Given the description of an element on the screen output the (x, y) to click on. 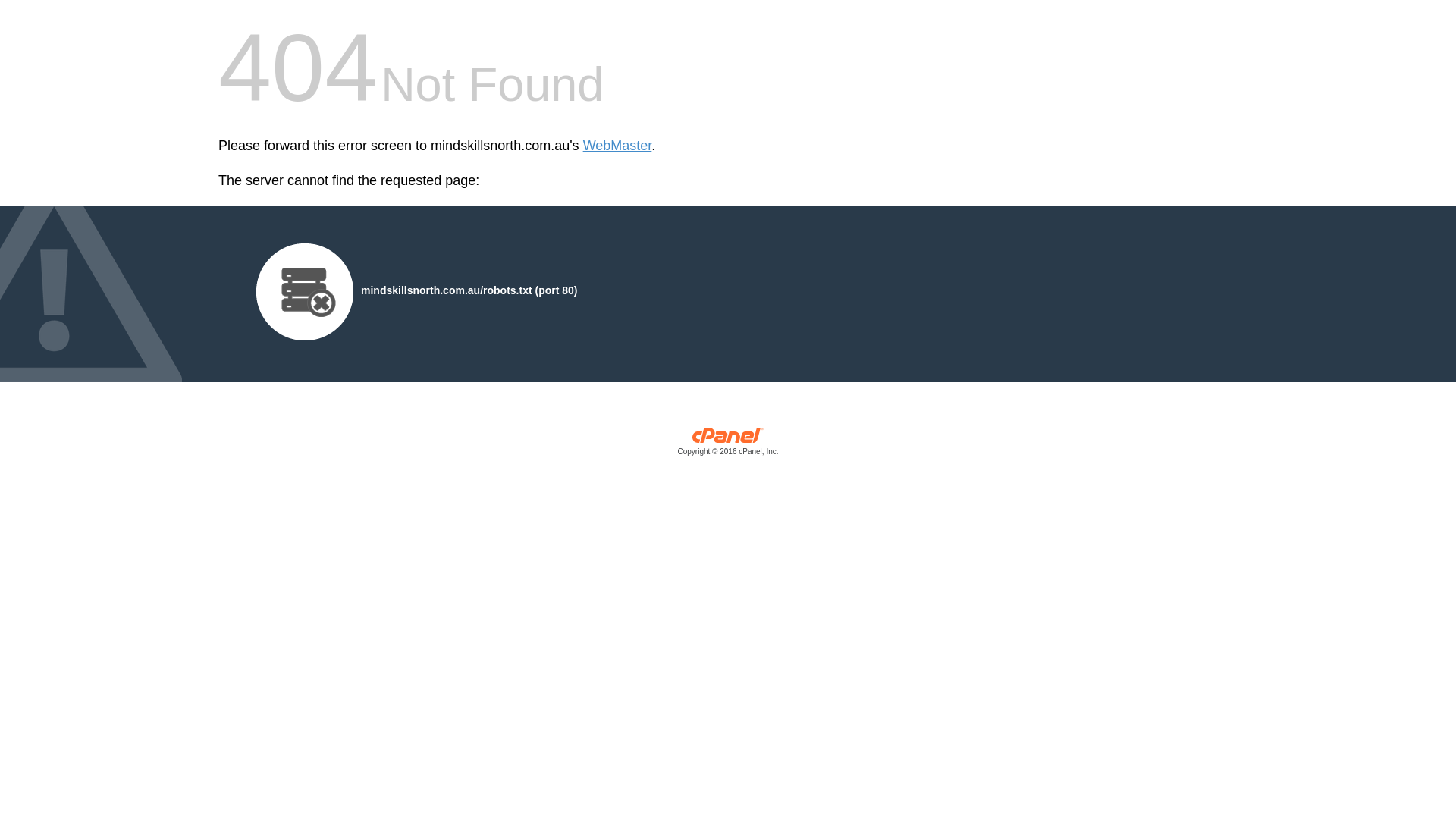
WebMaster Element type: text (617, 145)
